Given the description of an element on the screen output the (x, y) to click on. 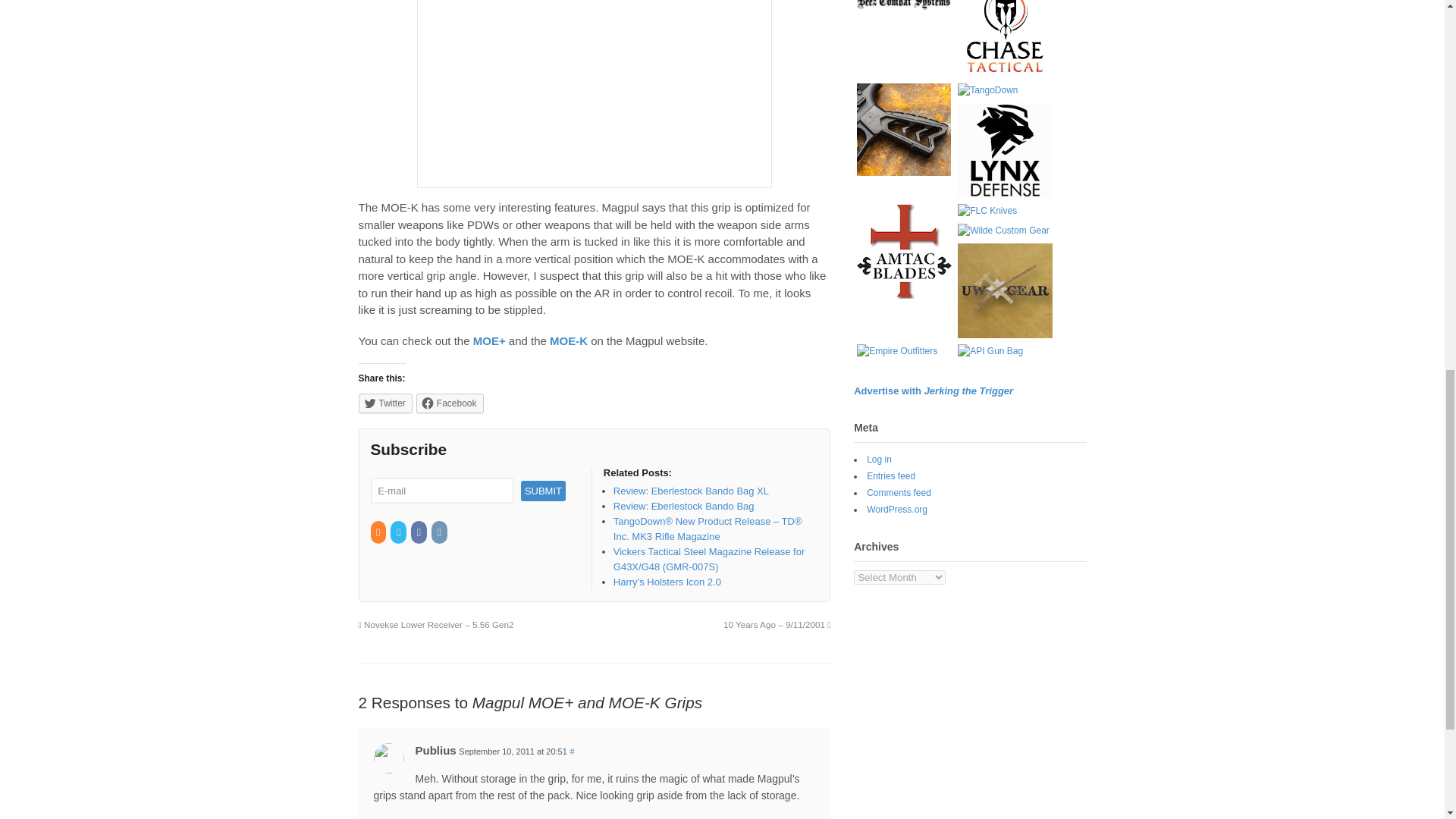
Review: Eberlestock Bando Bag XL (690, 490)
Submit (543, 490)
Facebook (449, 403)
Review: Eberlestock Bando Bag XL (690, 490)
Review: Eberlestock Bando Bag (683, 505)
MOE-K (569, 340)
Click to share on Facebook (449, 403)
Submit (543, 490)
Facebook (419, 532)
Click to share on Twitter (385, 403)
